Given the description of an element on the screen output the (x, y) to click on. 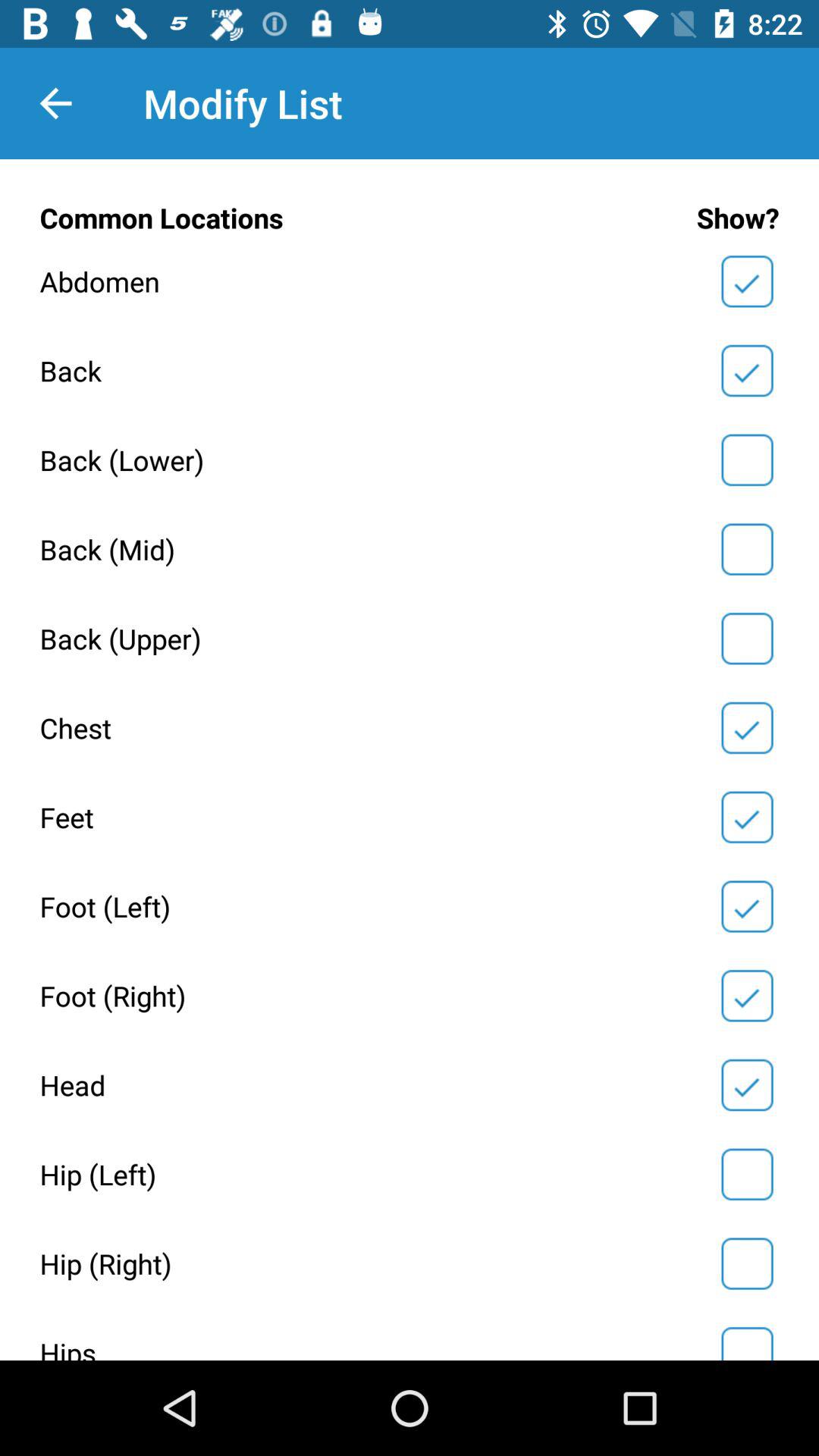
unselect (747, 906)
